Given the description of an element on the screen output the (x, y) to click on. 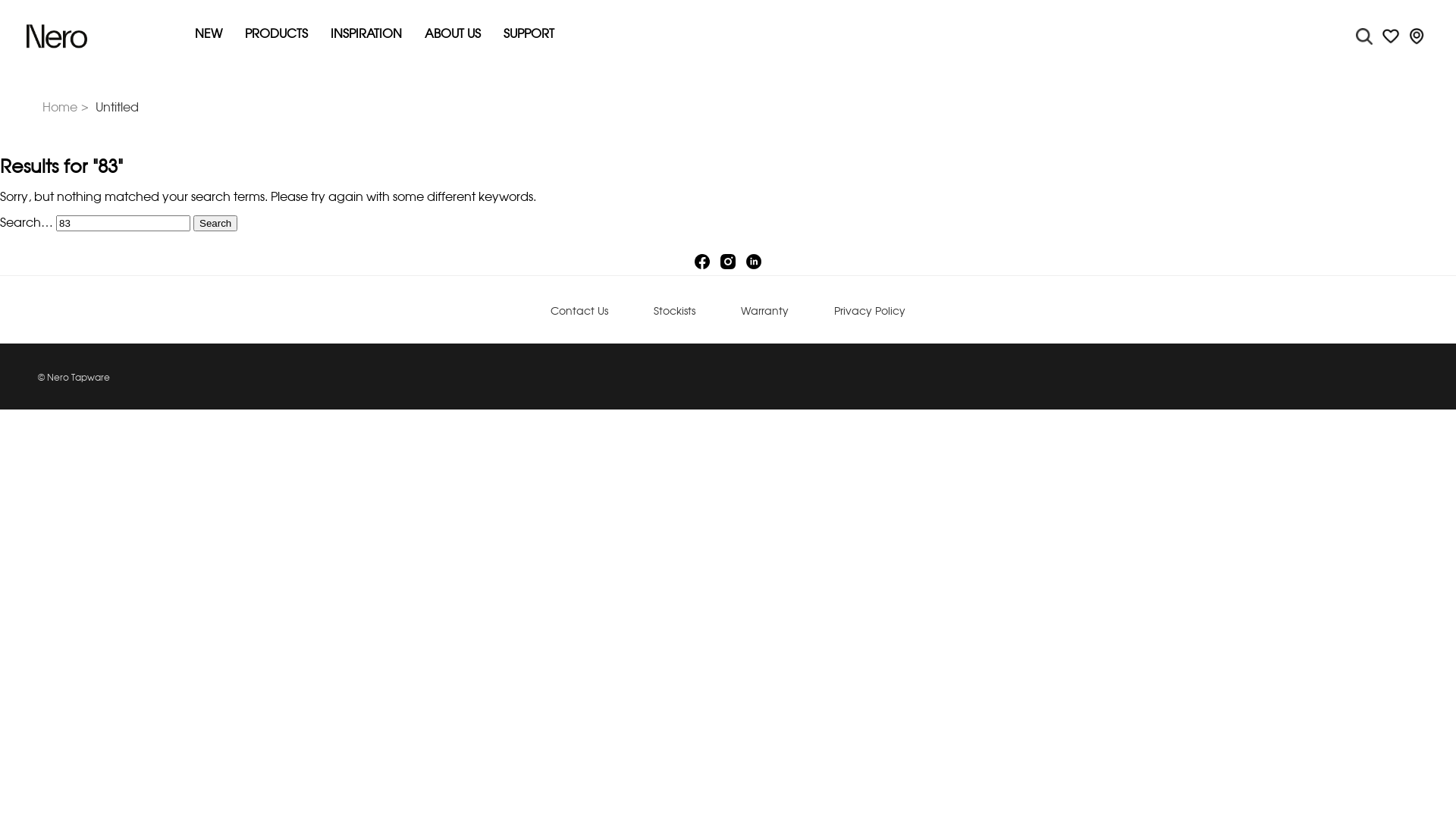
Contact Us Element type: text (579, 311)
Search Element type: text (215, 223)
Warranty Element type: text (764, 311)
Untitled Element type: text (116, 107)
Stockists Element type: text (674, 311)
Home Element type: text (67, 107)
ABOUT US Element type: text (452, 34)
Privacy Policy Element type: text (869, 311)
